Given the description of an element on the screen output the (x, y) to click on. 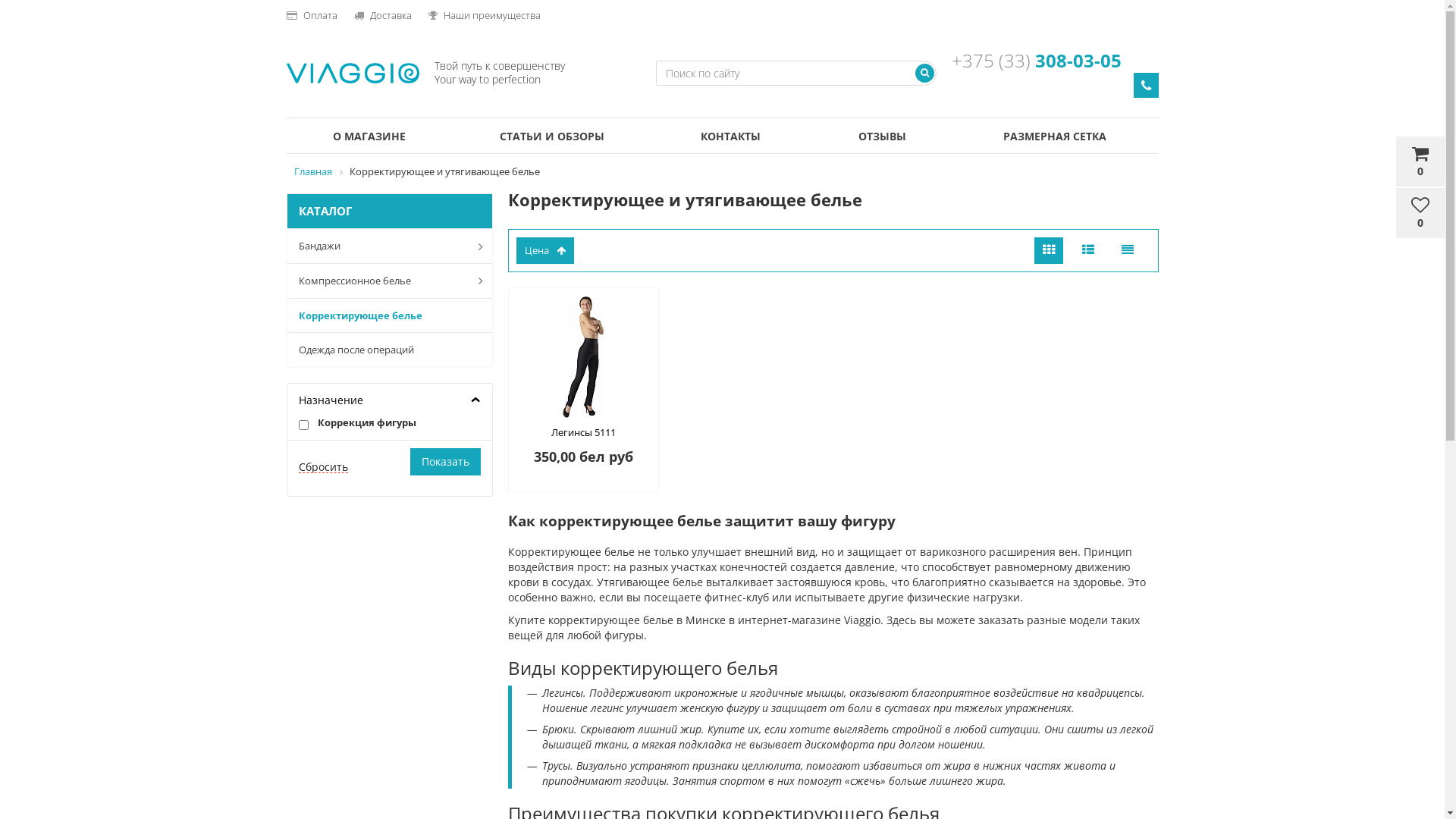
+375 (33) 308-03-05 Element type: text (1036, 59)
logo.png Element type: hover (352, 72)
0 Element type: text (1420, 214)
Y Element type: text (303, 424)
0 Element type: text (1420, 162)
